Given the description of an element on the screen output the (x, y) to click on. 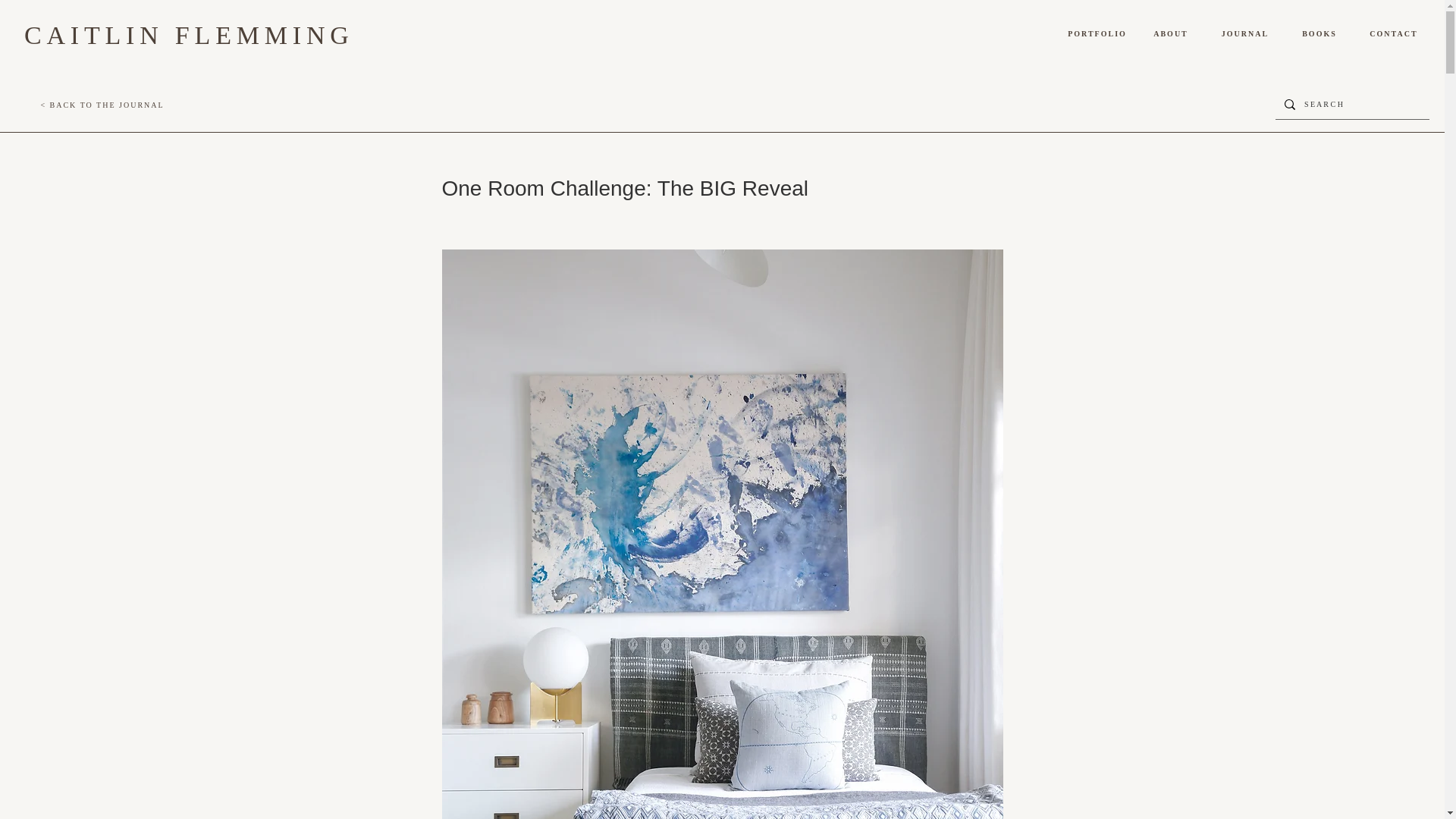
PORTFOLIO (1096, 33)
ABOUT (1171, 33)
BOOKS (1319, 33)
CONTACT (1393, 33)
JOURNAL (1245, 33)
CAITLIN FLEMMING (188, 35)
